Given the description of an element on the screen output the (x, y) to click on. 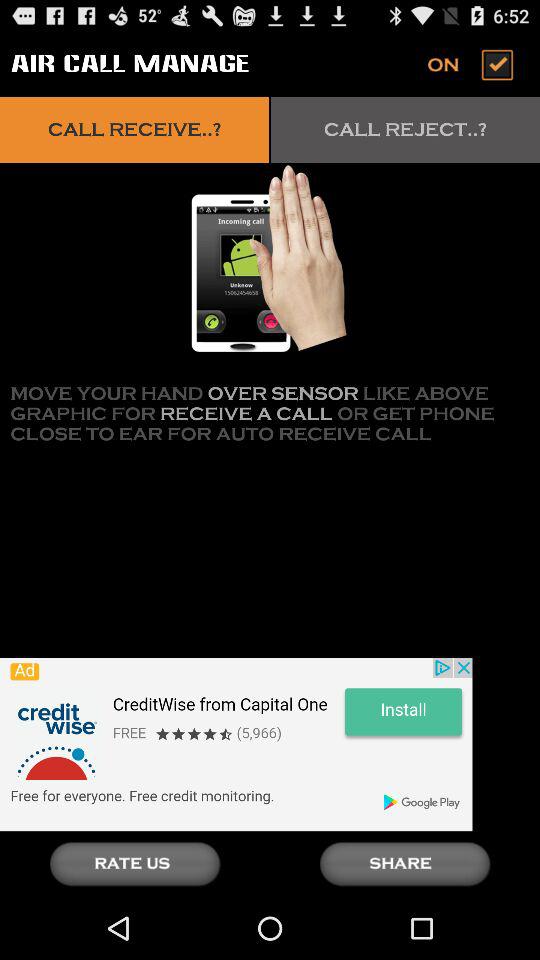
go to advertiser site (236, 744)
